Given the description of an element on the screen output the (x, y) to click on. 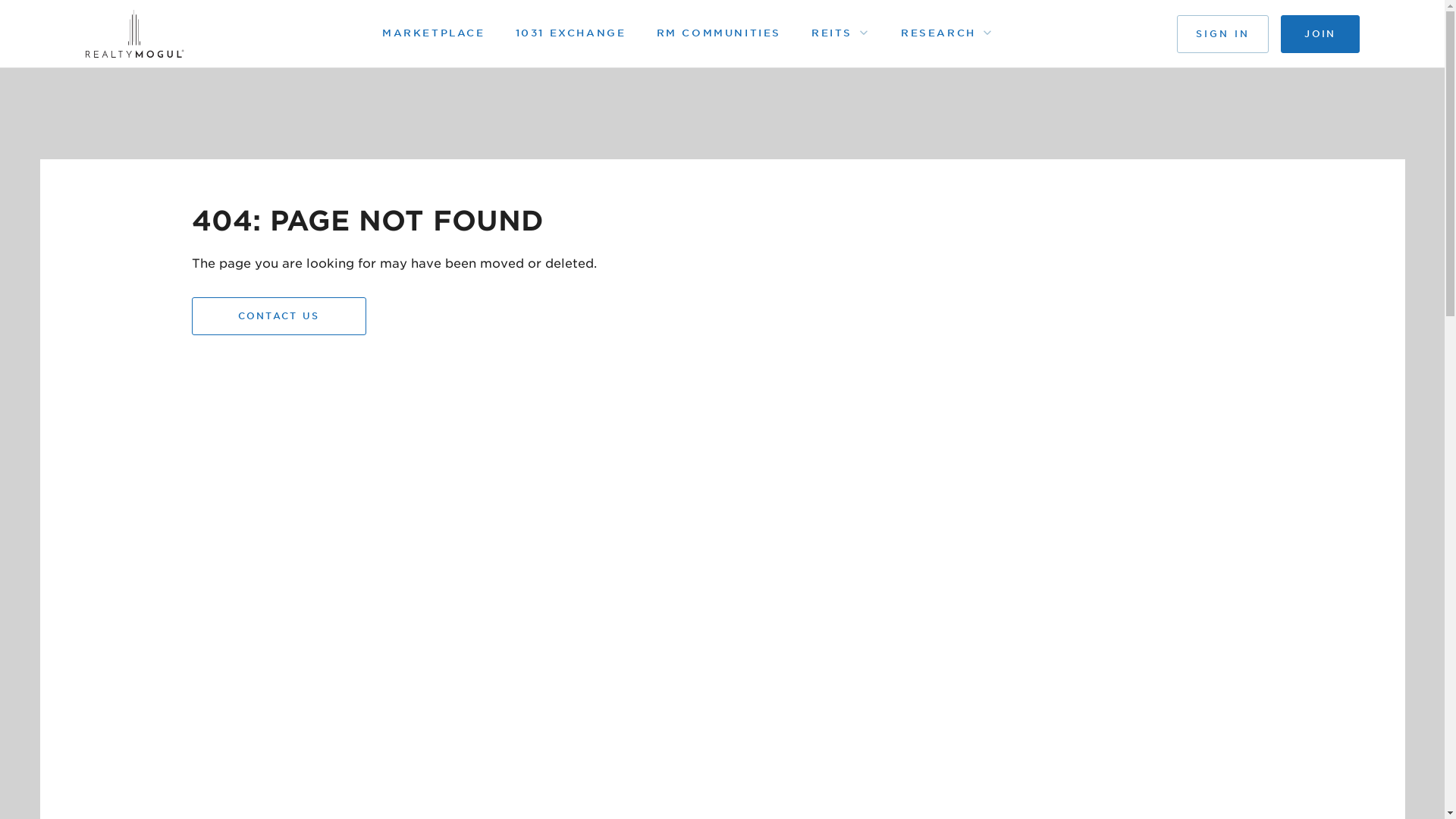
MARKETPLACE (432, 33)
REITS (830, 33)
1031 EXCHANGE (570, 33)
RESEARCH (938, 33)
RM COMMUNITIES (718, 33)
